Given the description of an element on the screen output the (x, y) to click on. 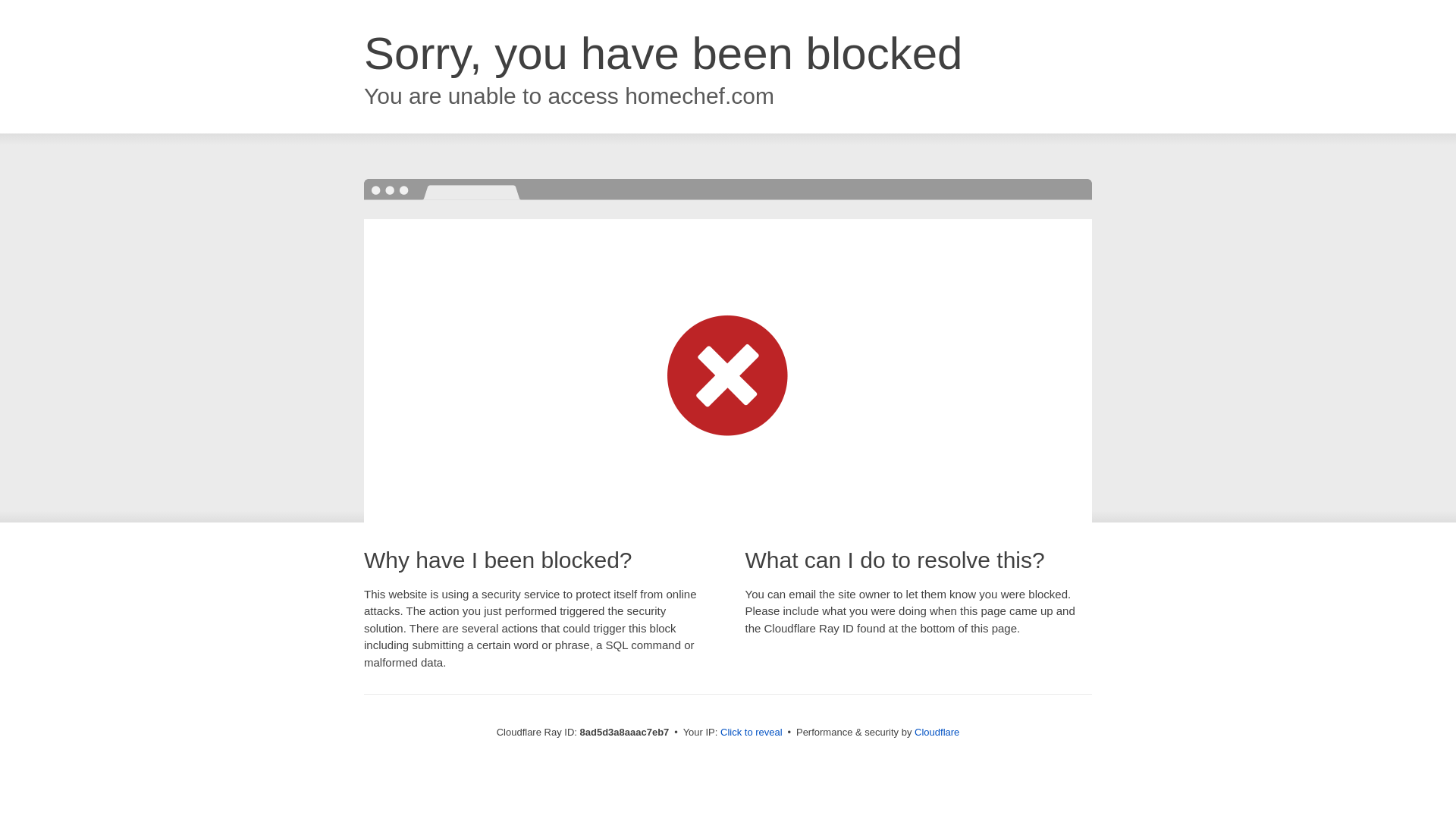
Cloudflare (936, 731)
Click to reveal (751, 732)
